Given the description of an element on the screen output the (x, y) to click on. 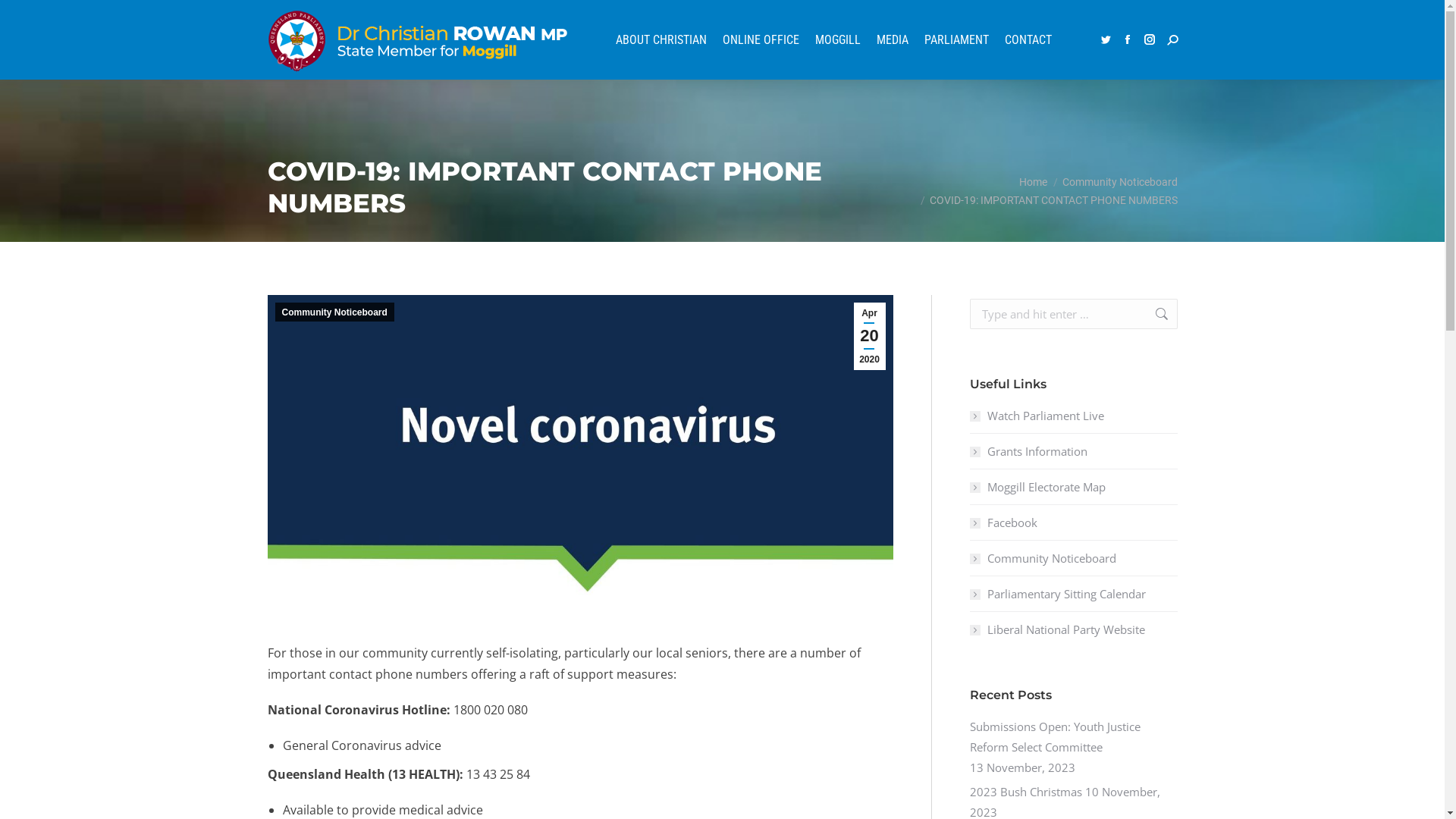
Community Noticeboard Element type: text (1118, 181)
Submissions Open: Youth Justice Reform Select Committee Element type: text (1072, 736)
Go! Element type: text (28, 18)
Facebook page opens in new window Element type: text (1127, 38)
MOGGILL Element type: text (836, 39)
CONTACT Element type: text (1027, 39)
Liberal National Party Website Element type: text (1056, 629)
Parliamentary Sitting Calendar Element type: text (1057, 593)
2023 Bush Christmas Element type: text (1025, 791)
Instagram page opens in new window Element type: text (1148, 38)
ABOUT CHRISTIAN Element type: text (660, 39)
Home Element type: text (1033, 181)
Facebook Element type: text (1002, 522)
Grants Information Element type: text (1027, 451)
Watch Parliament Live Element type: text (1036, 415)
Twitter page opens in new window Element type: text (1104, 38)
ONLINE OFFICE Element type: text (759, 39)
PARLIAMENT Element type: text (955, 39)
MEDIA Element type: text (891, 39)
Go! Element type: text (1154, 313)
Community Noticeboard Element type: text (1042, 558)
Community Noticeboard Element type: text (333, 311)
EP-RaukUYAACpDU (2) Element type: hover (579, 451)
Moggill Electorate Map Element type: text (1036, 486)
Apr
20
2020 Element type: text (869, 336)
